Given the description of an element on the screen output the (x, y) to click on. 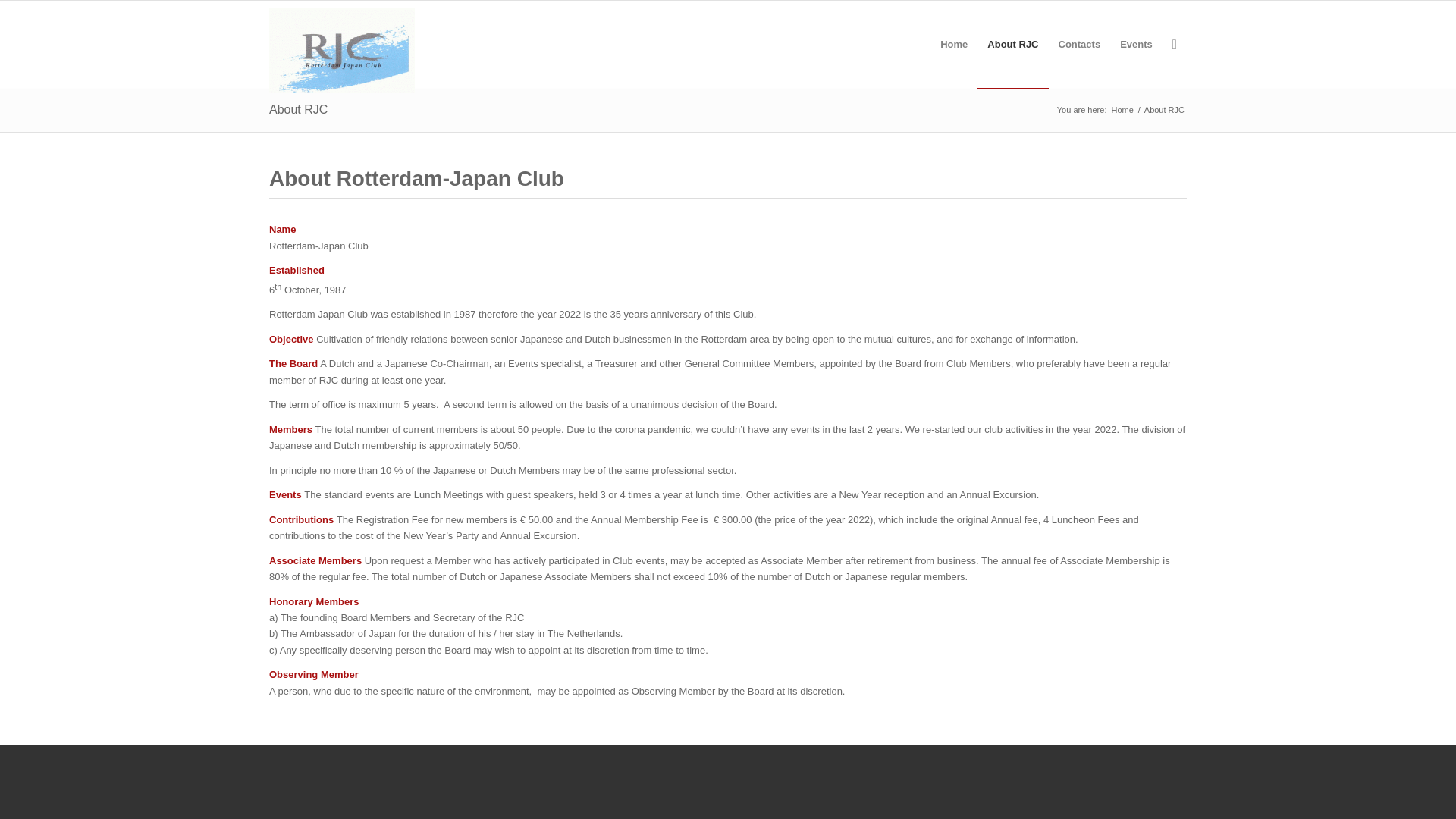
Permanent Link: About RJC (298, 109)
Home (1121, 110)
Rotterdam-Japan Club (1121, 110)
About RJC (298, 109)
